Given the description of an element on the screen output the (x, y) to click on. 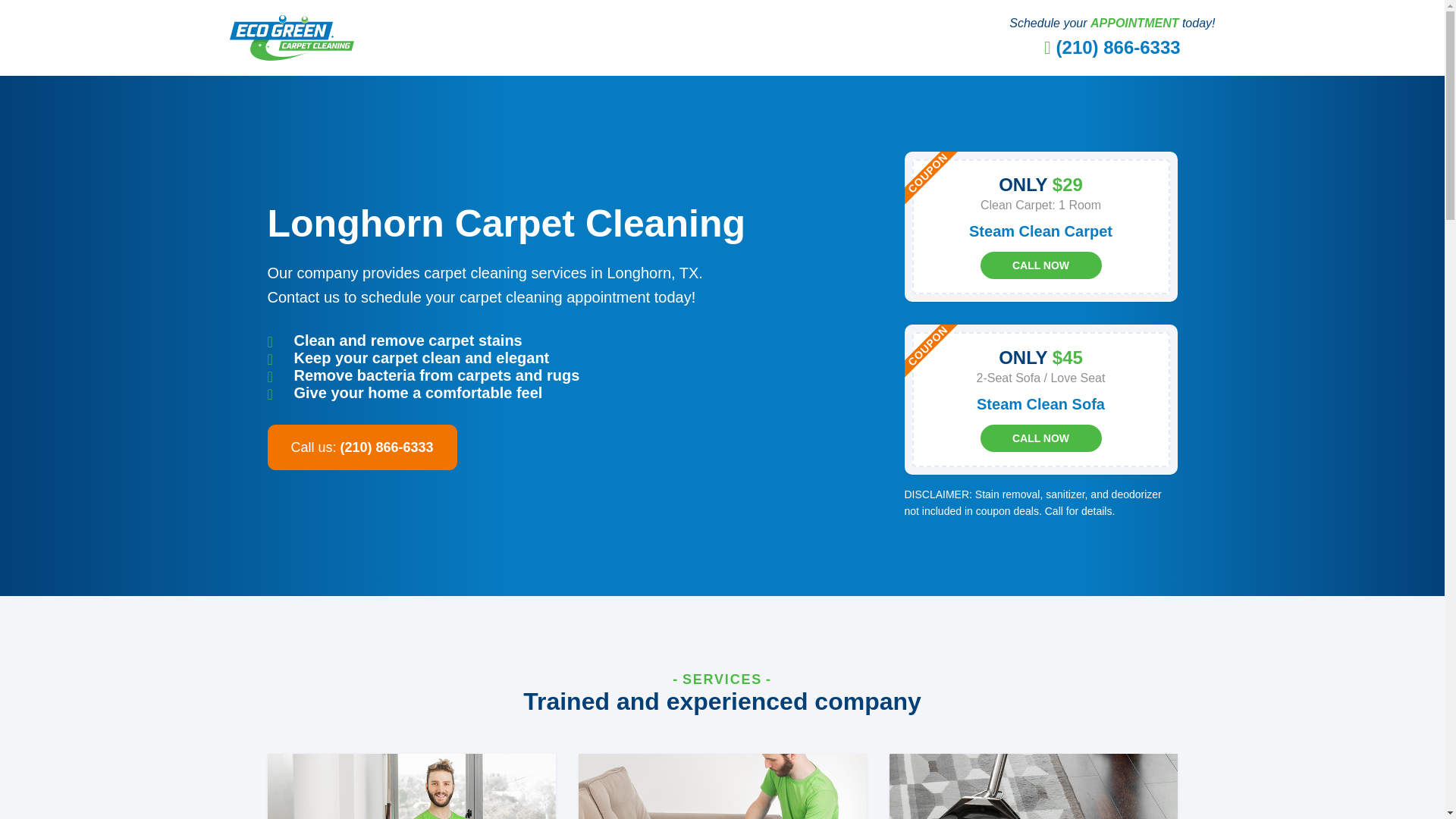
CALL NOW (1039, 438)
CALL NOW (1039, 265)
